Given the description of an element on the screen output the (x, y) to click on. 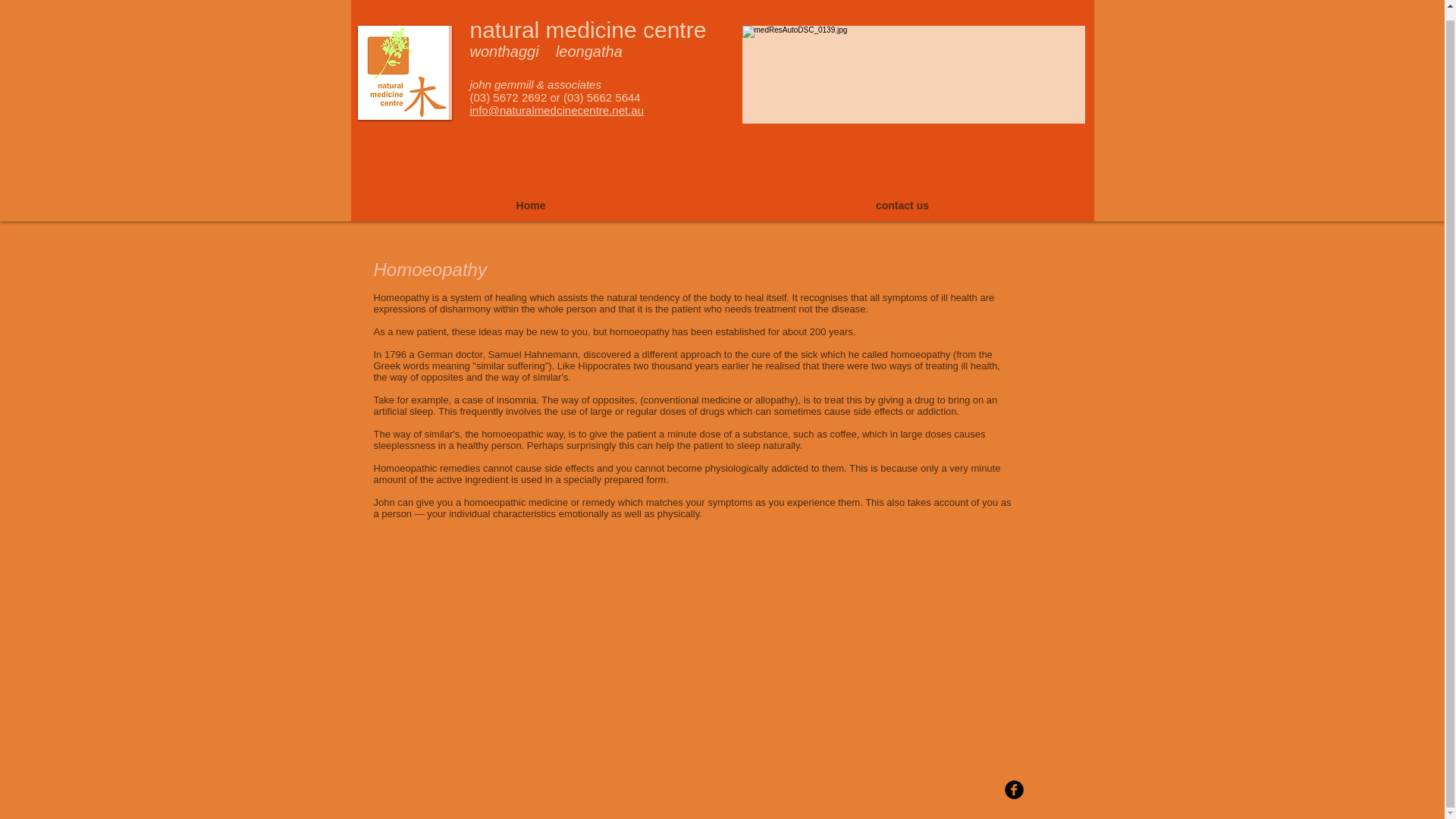
contact us (902, 196)
natural medicine centre (588, 20)
Home (530, 196)
allorange.png (404, 63)
